Given the description of an element on the screen output the (x, y) to click on. 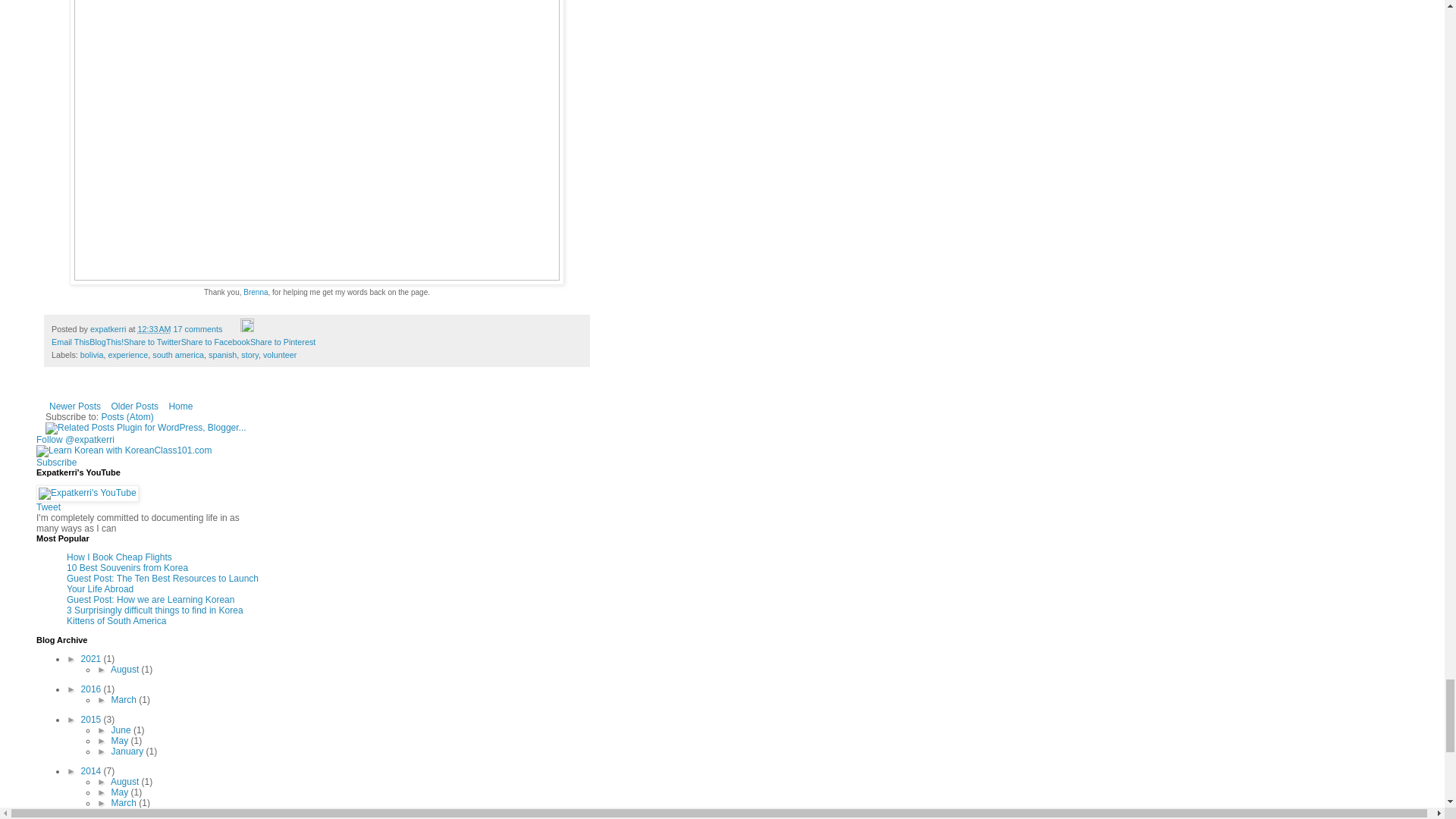
Share to Pinterest (282, 341)
Email This (69, 341)
Share to Facebook (215, 341)
Share to Facebook (215, 341)
Older Posts (133, 406)
Share to Twitter (151, 341)
17 comments (197, 328)
Brenna (255, 292)
BlogThis! (105, 341)
Email Post (232, 328)
permanent link (153, 328)
expatkerri (109, 328)
BlogThis! (105, 341)
author profile (109, 328)
